Given the description of an element on the screen output the (x, y) to click on. 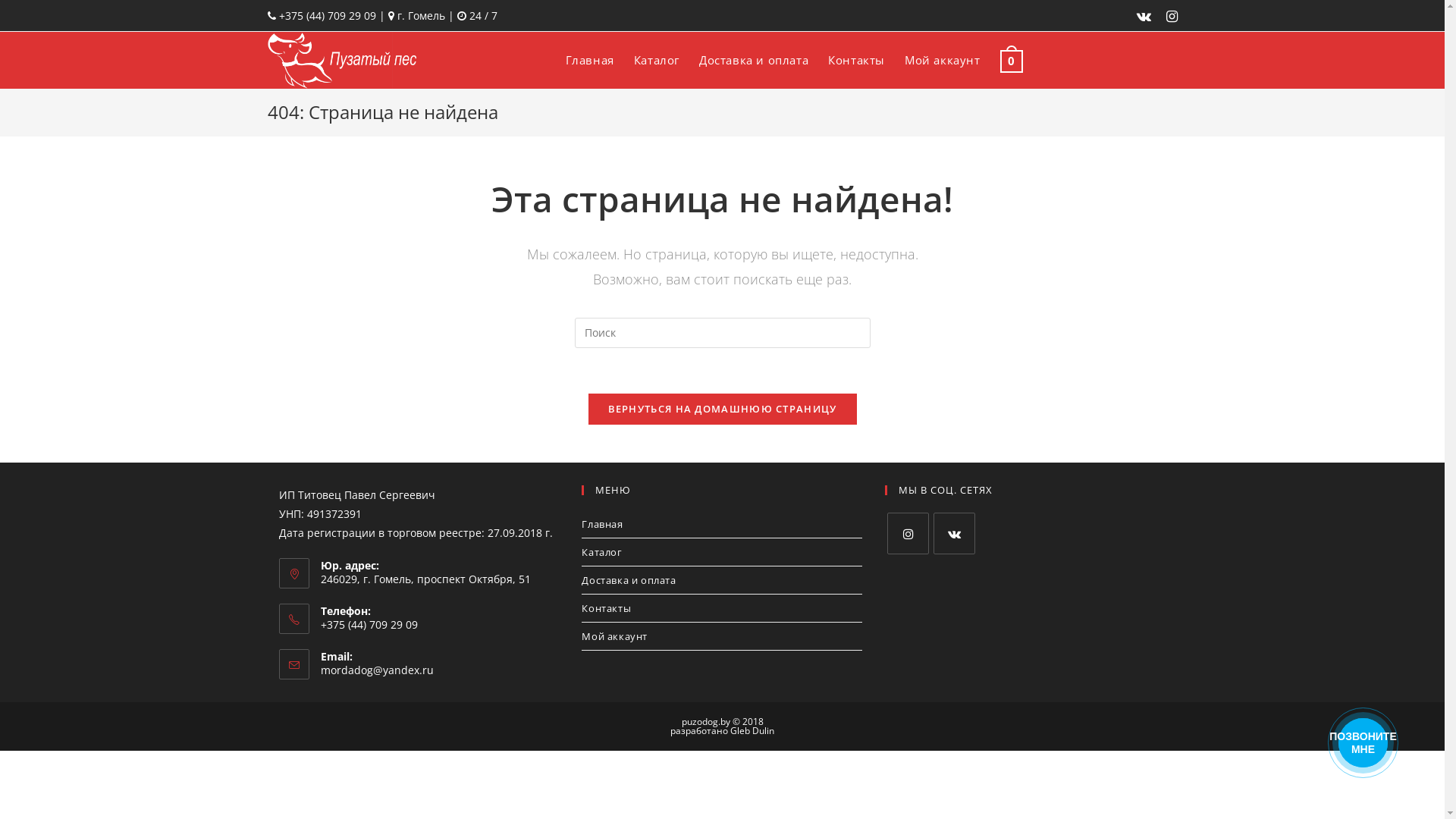
VK Element type: hover (954, 533)
mordadog@yandex.ru Element type: text (376, 669)
Gleb Dulin Element type: text (752, 730)
Instagram Element type: hover (1167, 15)
0 Element type: text (1011, 59)
Instagram Element type: hover (907, 533)
+375 (44) 709 29 09 Element type: text (439, 624)
